Given the description of an element on the screen output the (x, y) to click on. 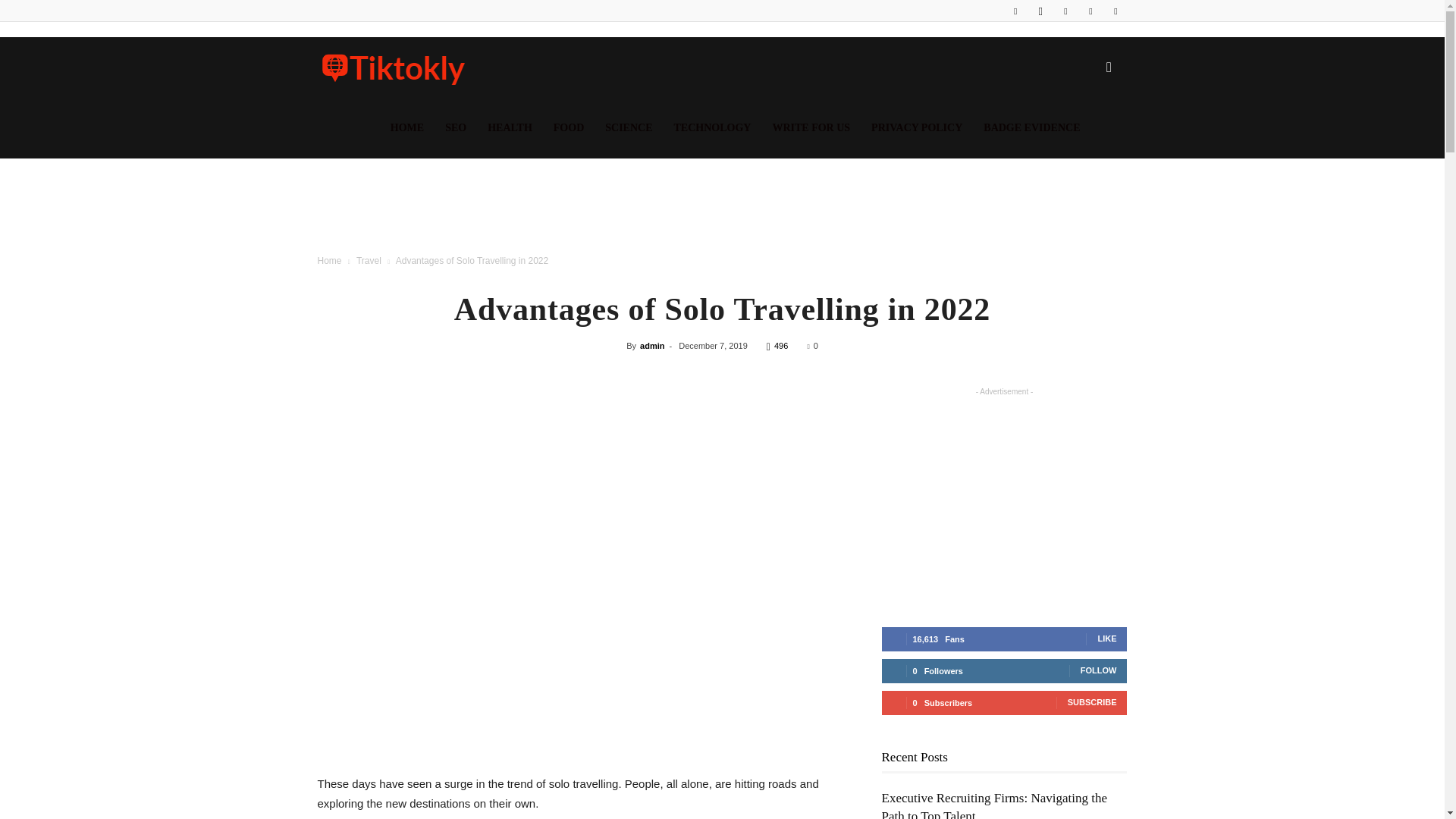
Twitter (1065, 10)
Facebook (1015, 10)
HOME (406, 127)
Instagram (1040, 10)
HEALTH (510, 127)
Youtube (1114, 10)
Vimeo (1090, 10)
Search (1085, 139)
Tiktokly (392, 67)
